Given the description of an element on the screen output the (x, y) to click on. 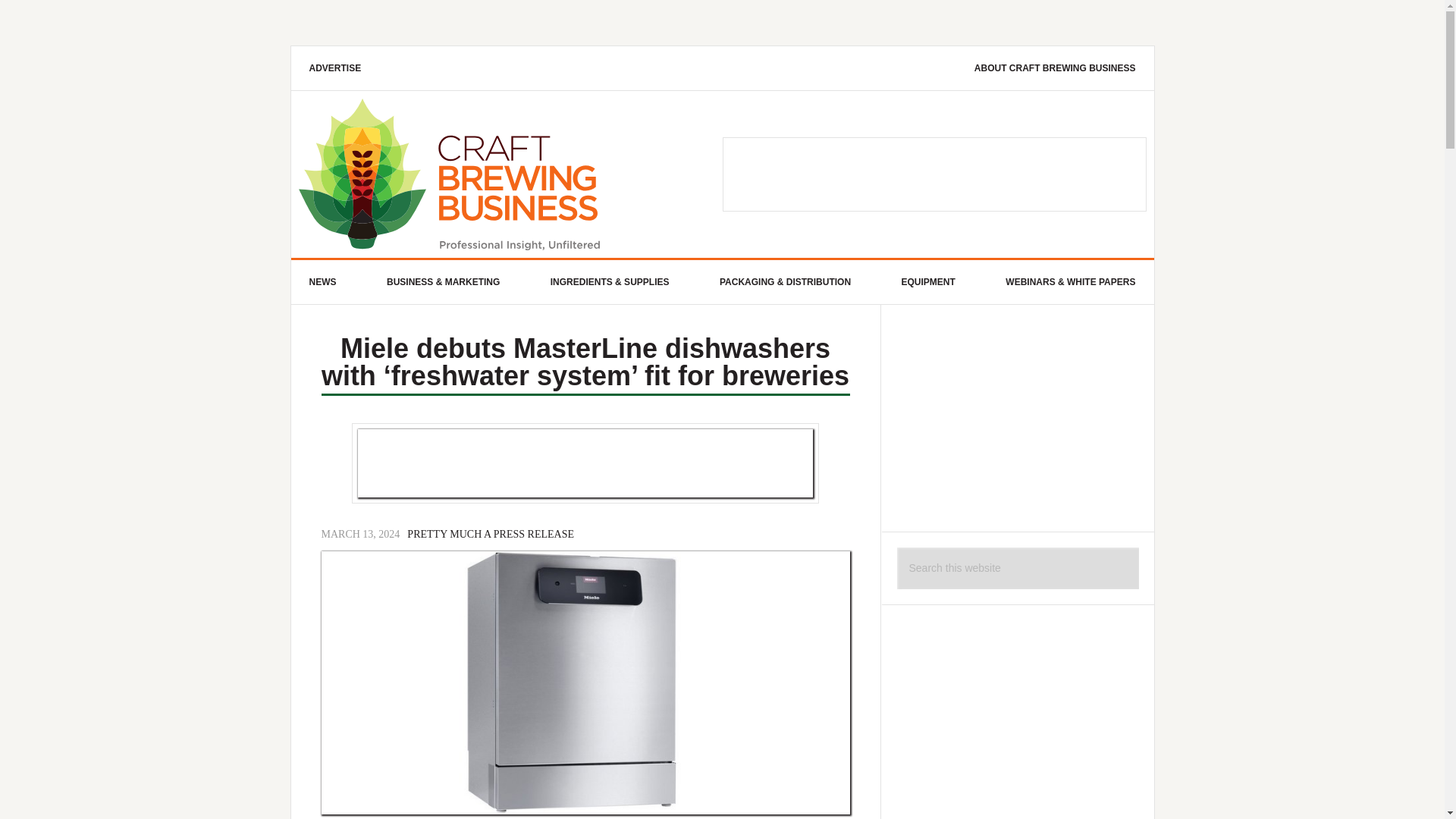
EQUIPMENT (928, 281)
ABOUT CRAFT BREWING BUSINESS (1055, 67)
NEWS (323, 281)
CRAFT BREWING BUSINESS (510, 174)
PRETTY MUCH A PRESS RELEASE (490, 534)
ADVERTISE (335, 67)
